Given the description of an element on the screen output the (x, y) to click on. 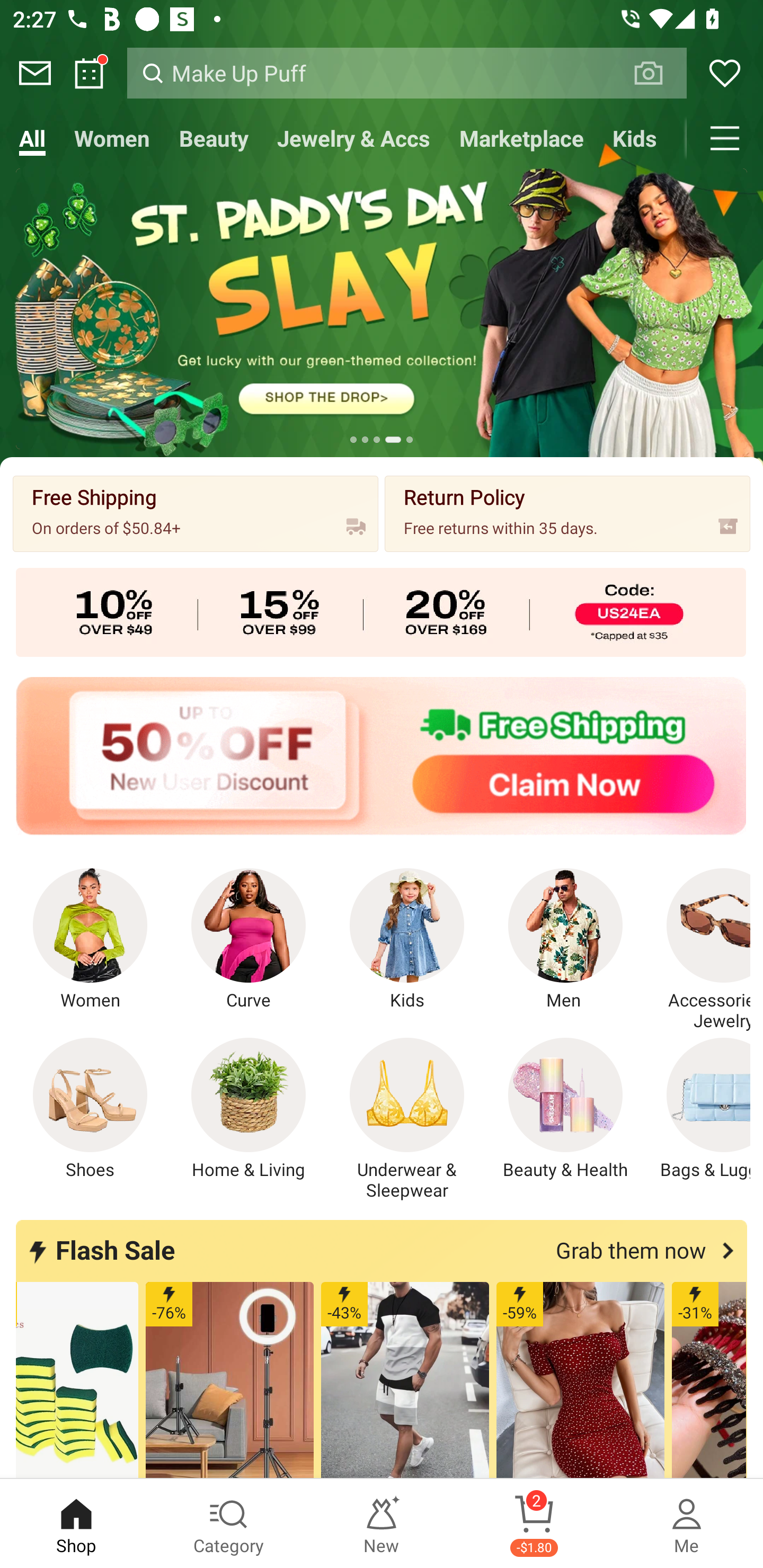
Wishlist (724, 72)
VISUAL SEARCH (657, 72)
All (31, 137)
Women (111, 137)
Beauty (213, 137)
Jewelry & Accs (353, 137)
Marketplace (521, 137)
Kids (634, 137)
Free Shipping On orders of $50.84+ (195, 513)
Return Policy Free returns within 35 days. (567, 513)
Women (89, 939)
Curve (248, 939)
Kids (406, 939)
Men  (565, 939)
Accessories & Jewelry (698, 949)
Shoes (89, 1109)
Home & Living (248, 1109)
Underwear & Sleepwear (406, 1119)
Beauty & Health (565, 1109)
Bags & Luggage (698, 1109)
Category (228, 1523)
New (381, 1523)
Cart 2 -$1.80 (533, 1523)
Me (686, 1523)
